Given the description of an element on the screen output the (x, y) to click on. 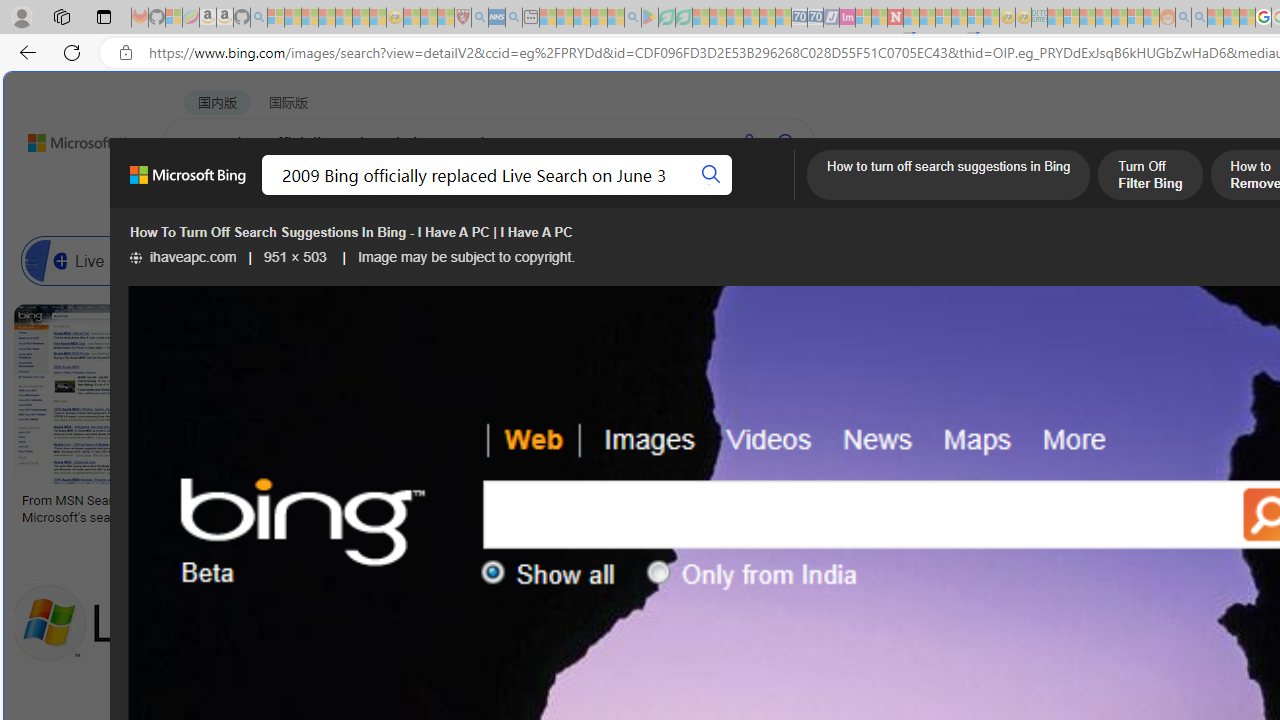
Bing Ai Search Engine Powered (830, 260)
Cheap Car Rentals - Save70.com - Sleeping (799, 17)
Bing Logo and symbol, meaning, history, PNG, brand (418, 508)
Recipes - MSN - Sleeping (411, 17)
MY BING (276, 195)
Utah sues federal government - Search - Sleeping (1199, 17)
Bing Voice Search (275, 260)
Search button (712, 174)
